Given the description of an element on the screen output the (x, y) to click on. 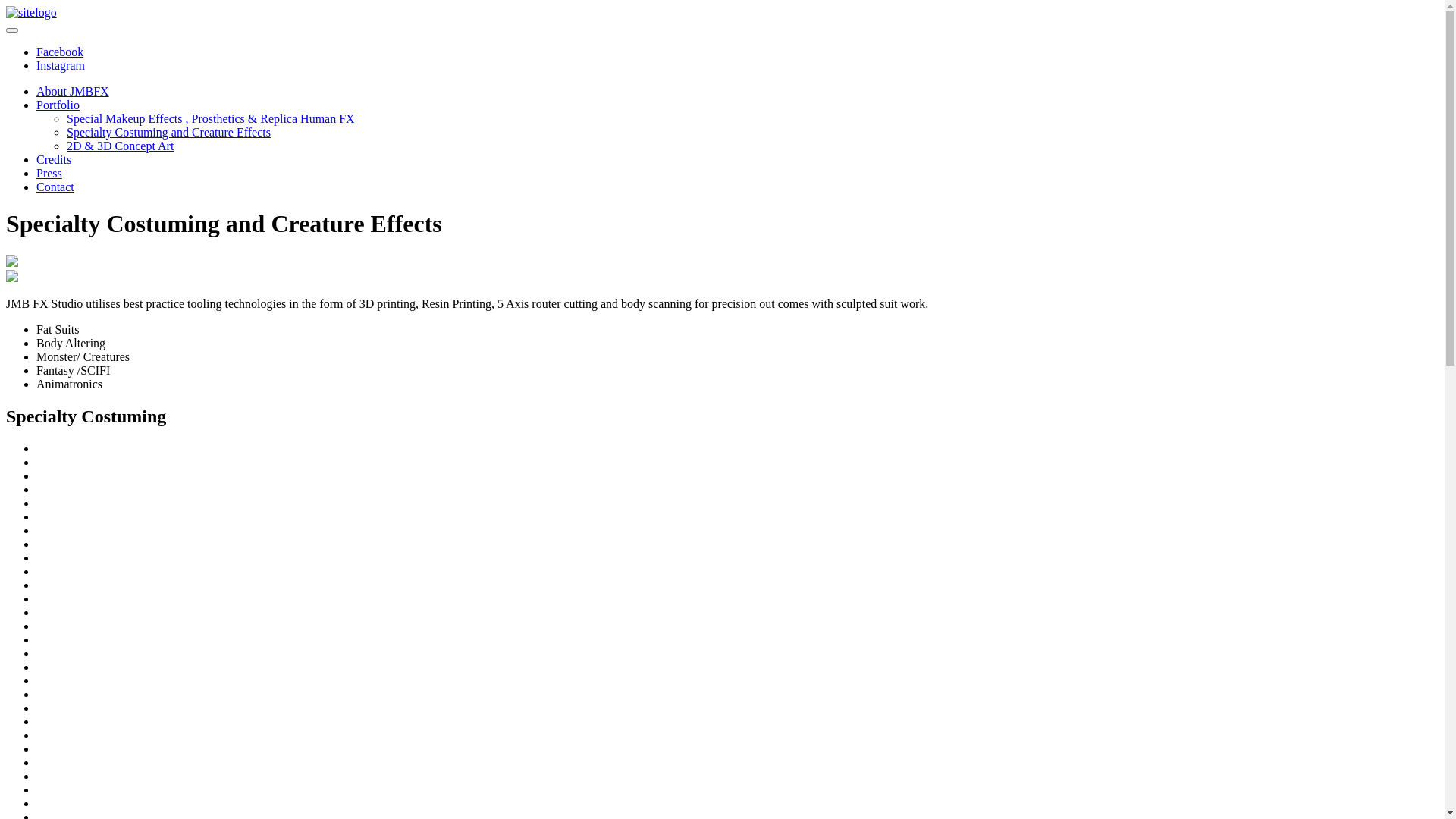
Instagram Element type: text (60, 65)
Credits Element type: text (53, 159)
Facebook Element type: text (59, 51)
About JMBFX Element type: text (72, 90)
Specialty Costuming and Creature Effects Element type: text (168, 131)
Press Element type: text (49, 172)
Special Makeup Effects , Prosthetics & Replica Human FX Element type: text (210, 118)
Contact Element type: text (55, 186)
Portfolio Element type: text (57, 104)
2D & 3D Concept Art Element type: text (119, 145)
